Given the description of an element on the screen output the (x, y) to click on. 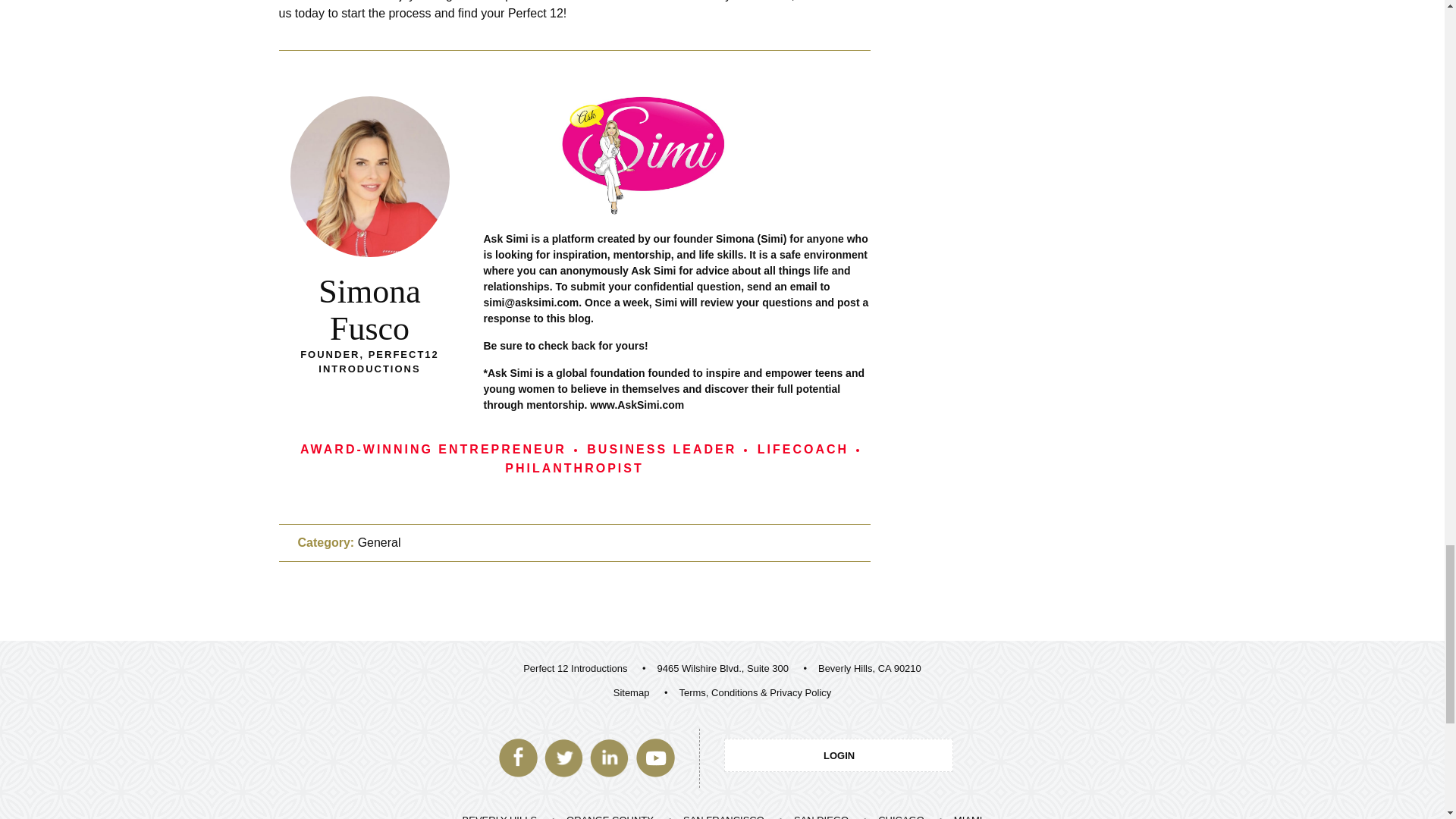
General (379, 542)
www.AskSimi.com (636, 404)
